Given the description of an element on the screen output the (x, y) to click on. 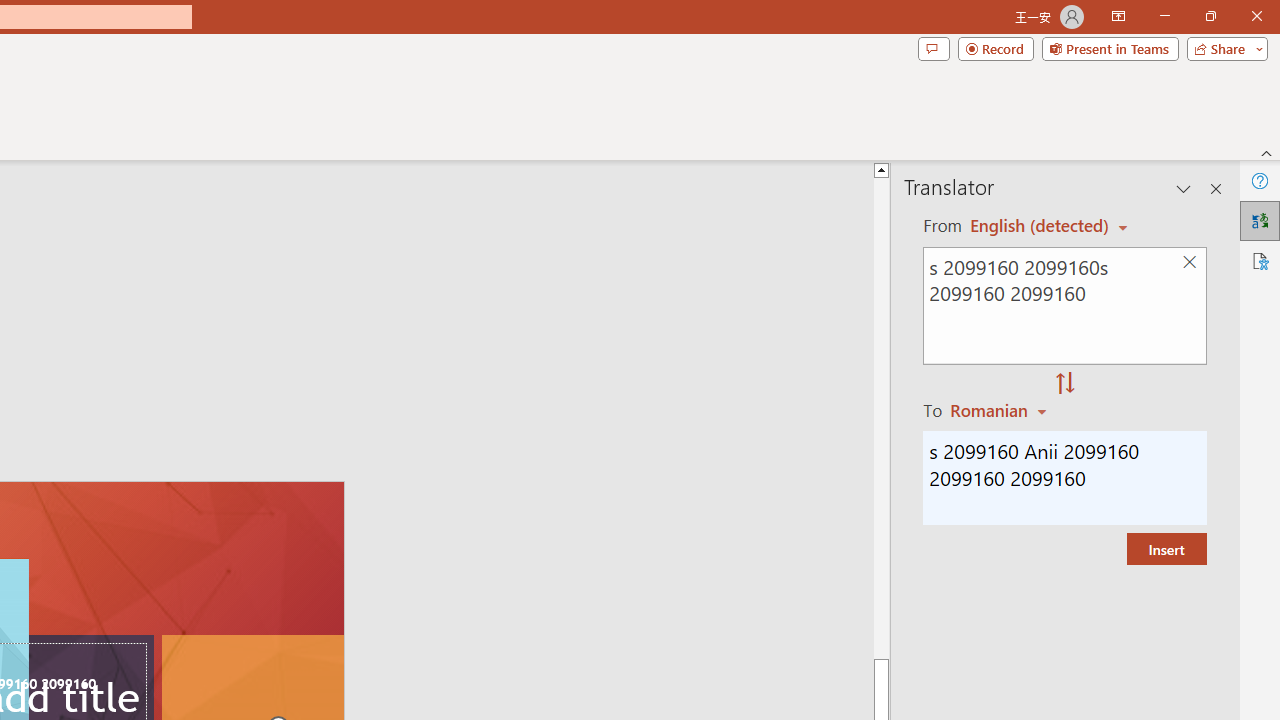
Swap "from" and "to" languages. (1065, 383)
Romanian (1001, 409)
